Given the description of an element on the screen output the (x, y) to click on. 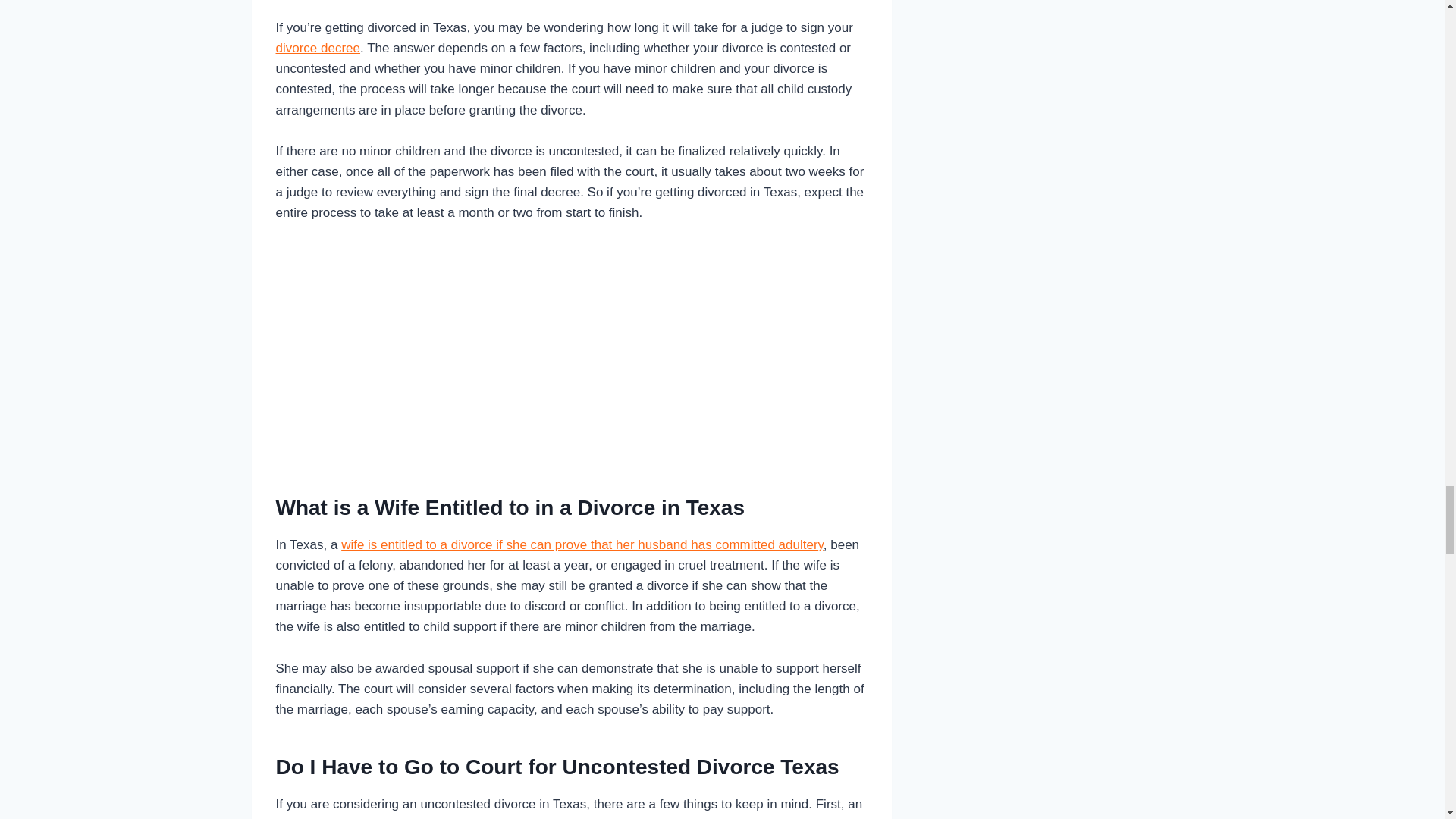
divorce decree (318, 47)
